Given the description of an element on the screen output the (x, y) to click on. 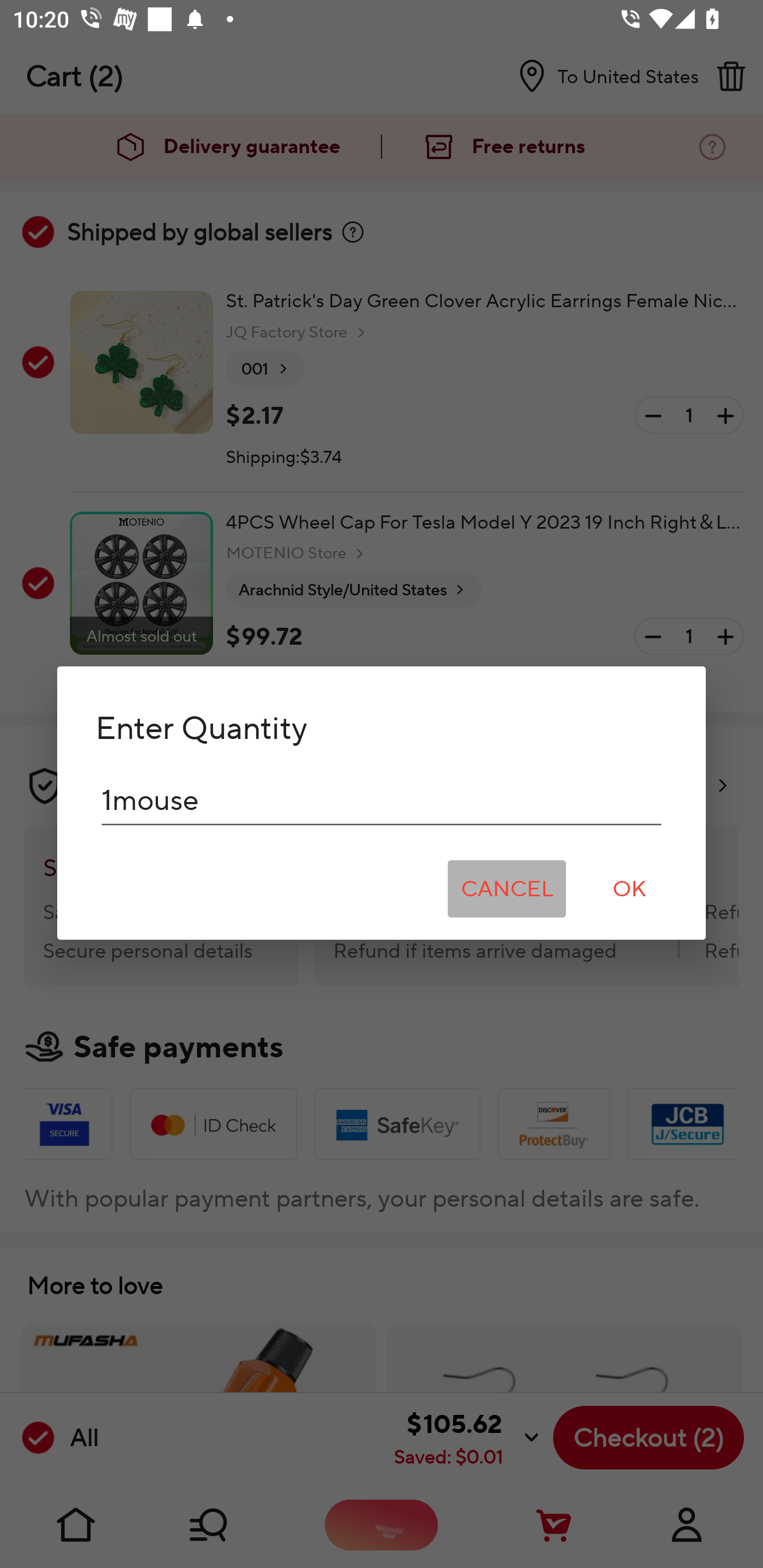
1mouse (381, 800)
CANCEL (506, 888)
OK (629, 888)
